Given the description of an element on the screen output the (x, y) to click on. 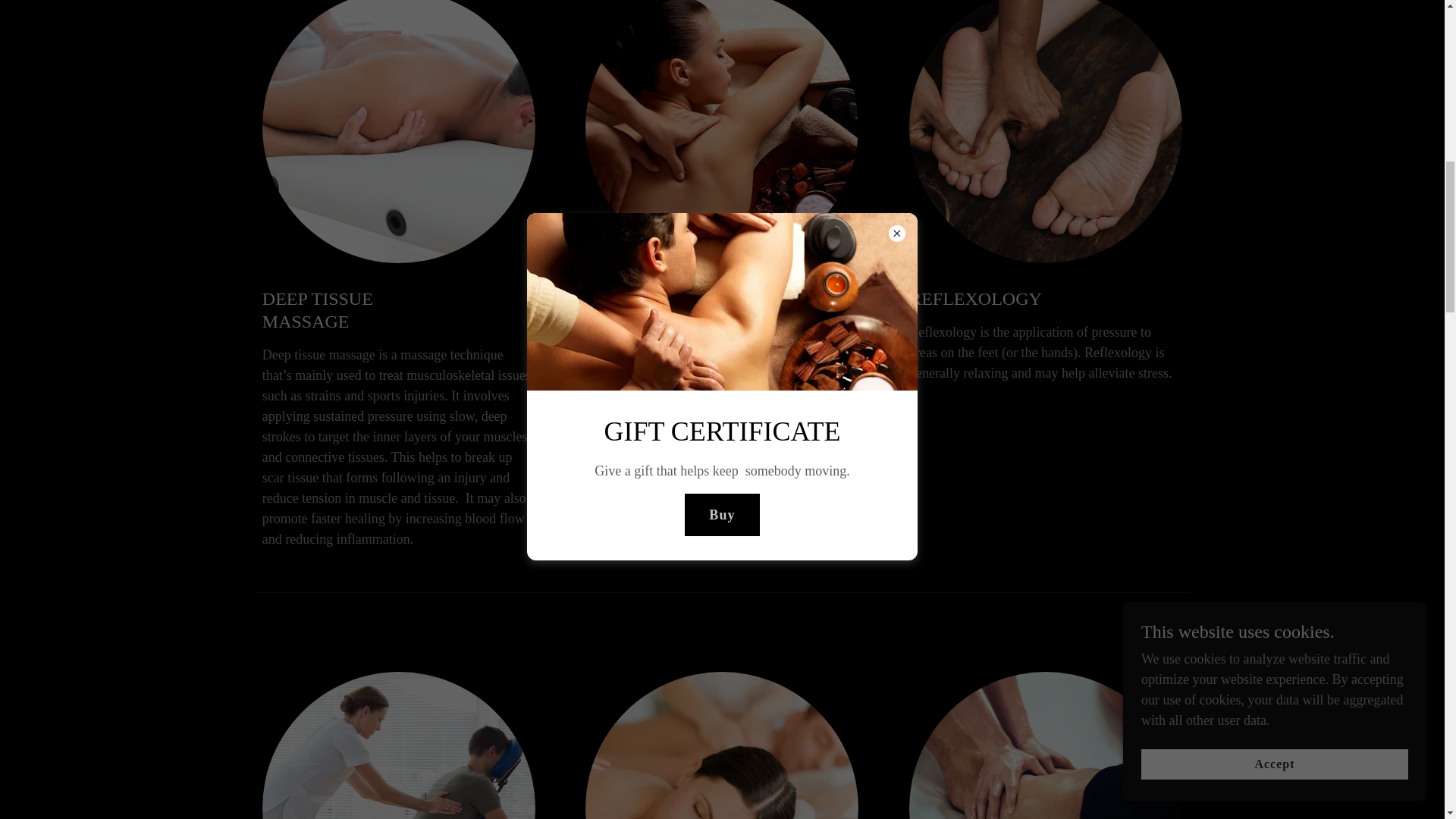
SWEDISH MASSAGE (680, 298)
DEEP TISSUE MASSAGE (357, 309)
